Given the description of an element on the screen output the (x, y) to click on. 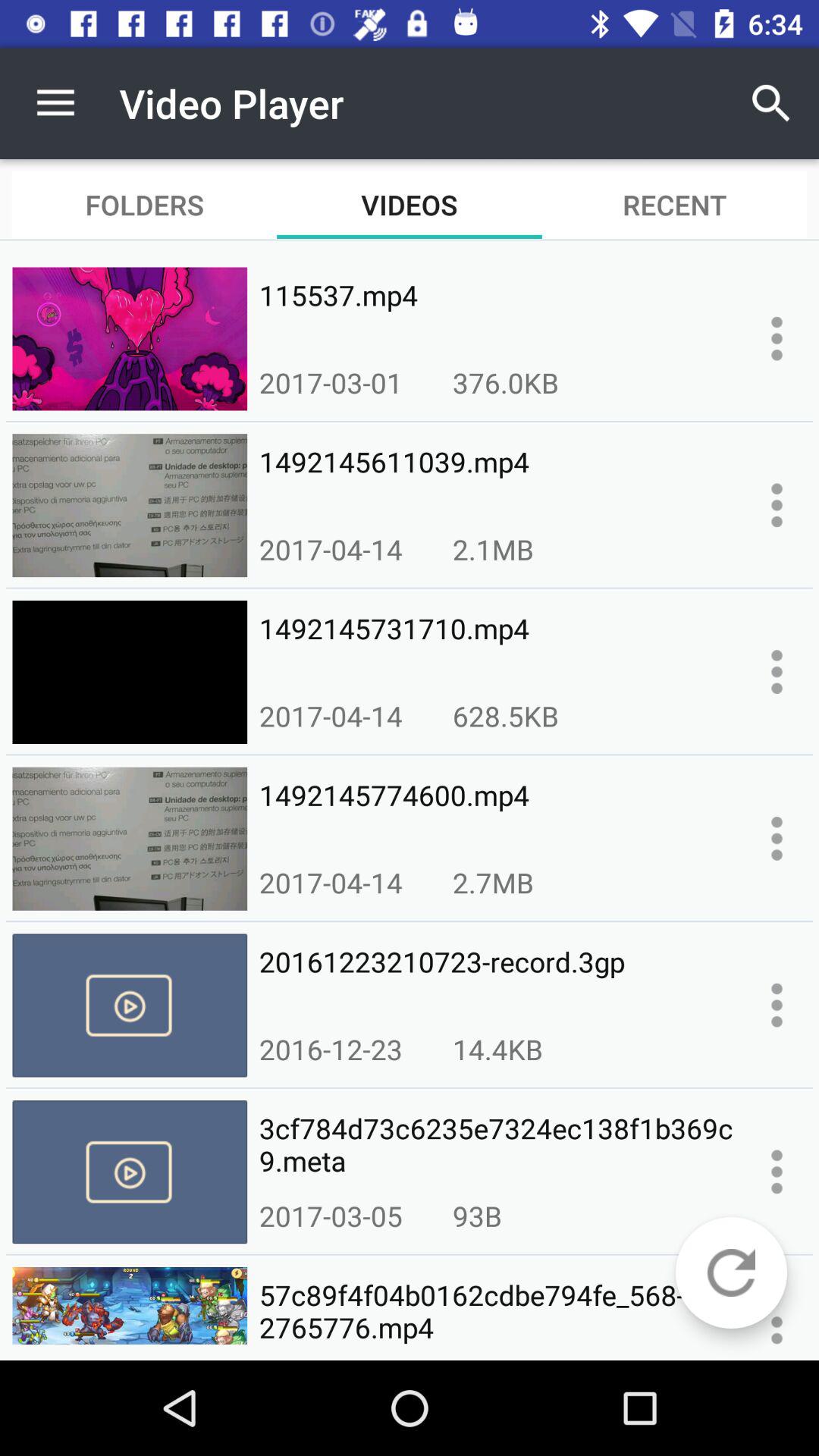
refresh page (731, 1272)
